Given the description of an element on the screen output the (x, y) to click on. 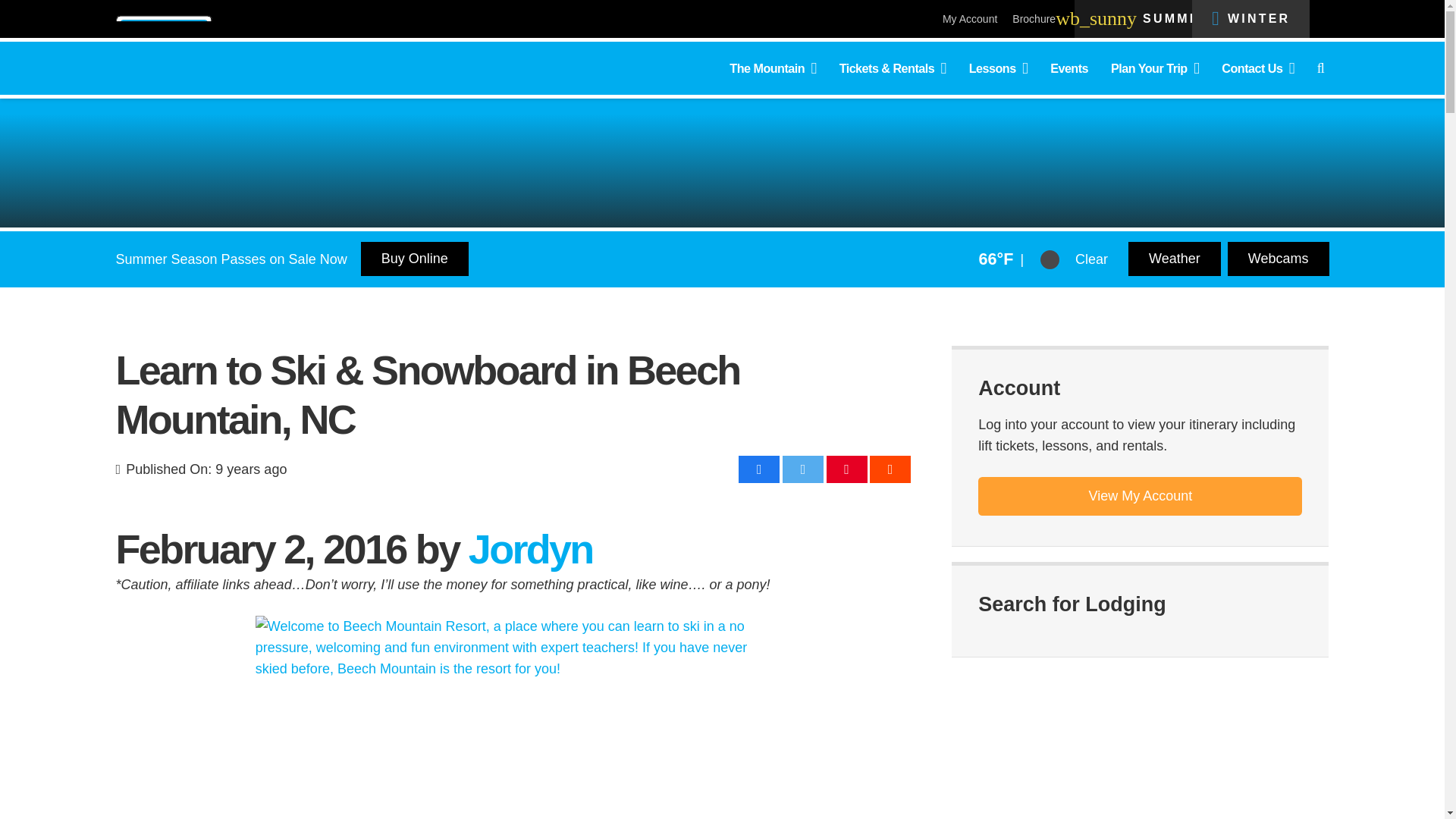
Brochure (1033, 19)
My Account (969, 19)
Share this (758, 469)
Pin this (847, 469)
Clear (1049, 259)
Tweet this (803, 469)
The Mountain (772, 67)
Share this (890, 469)
Webcams (1278, 258)
Webcams (1174, 258)
